Given the description of an element on the screen output the (x, y) to click on. 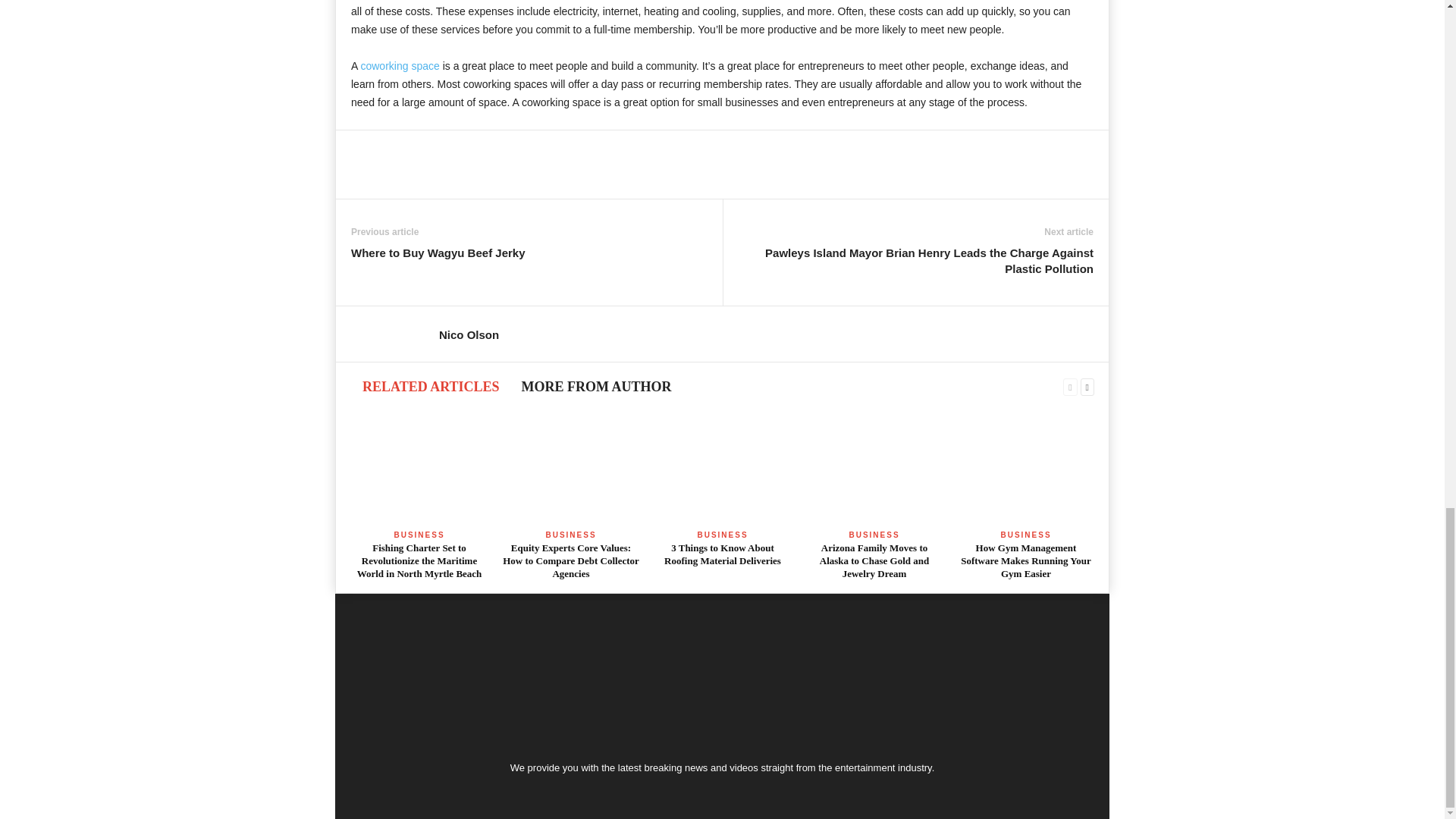
How Gym Management Software Makes Running Your Gym Easier (1026, 468)
3 Things to Know About Roofing Material Deliveries (721, 468)
3 Things to Know About Roofing Material Deliveries (721, 554)
coworking space (399, 65)
